Given the description of an element on the screen output the (x, y) to click on. 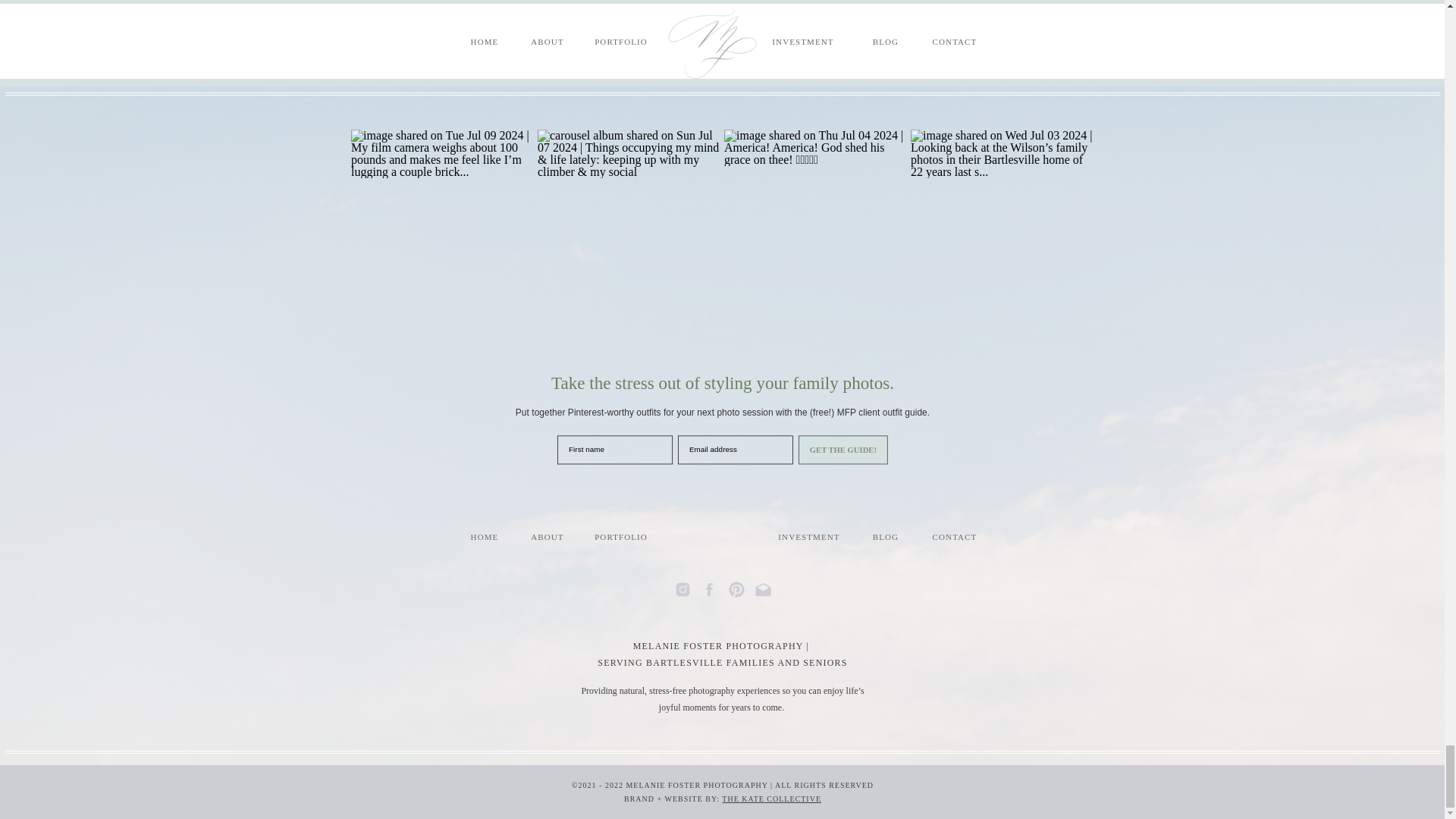
BLOG (885, 536)
ABOUT (546, 536)
CONTACT (954, 536)
PORTFOLIO (620, 536)
INVESTMENT (808, 536)
GET THE GUIDE! (861, 455)
HOME (484, 536)
